Given the description of an element on the screen output the (x, y) to click on. 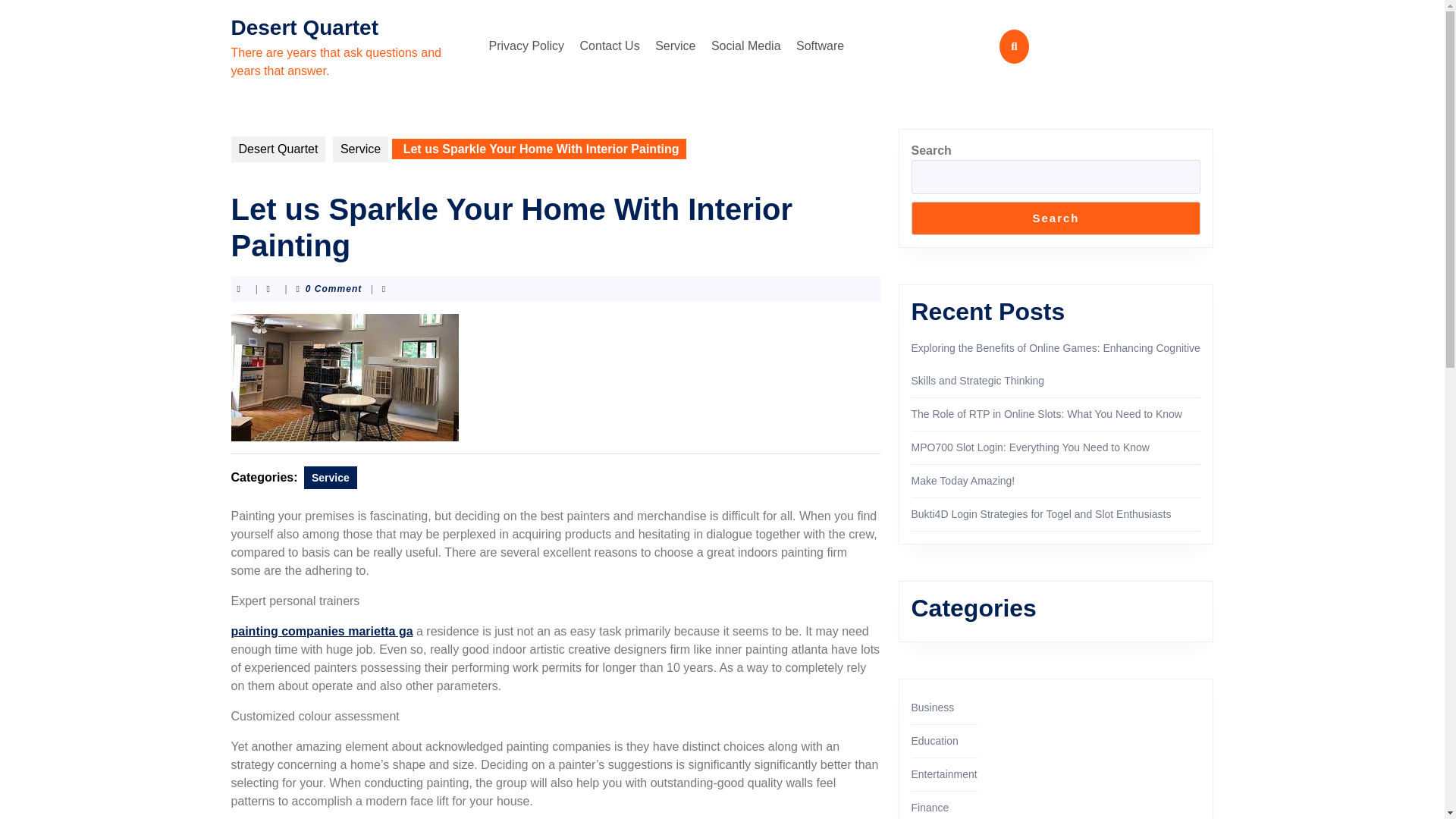
Finance (930, 807)
Contact Us (609, 46)
Business (933, 707)
MPO700 Slot Login: Everything You Need to Know (1030, 447)
Service (360, 149)
Software (820, 46)
Entertainment (943, 774)
Desert Quartet (277, 149)
Service (675, 46)
Bukti4D Login Strategies for Togel and Slot Enthusiasts (1041, 513)
Social Media (745, 46)
Search (1056, 218)
Service (330, 477)
The Role of RTP in Online Slots: What You Need to Know (1046, 413)
Education (934, 740)
